Given the description of an element on the screen output the (x, y) to click on. 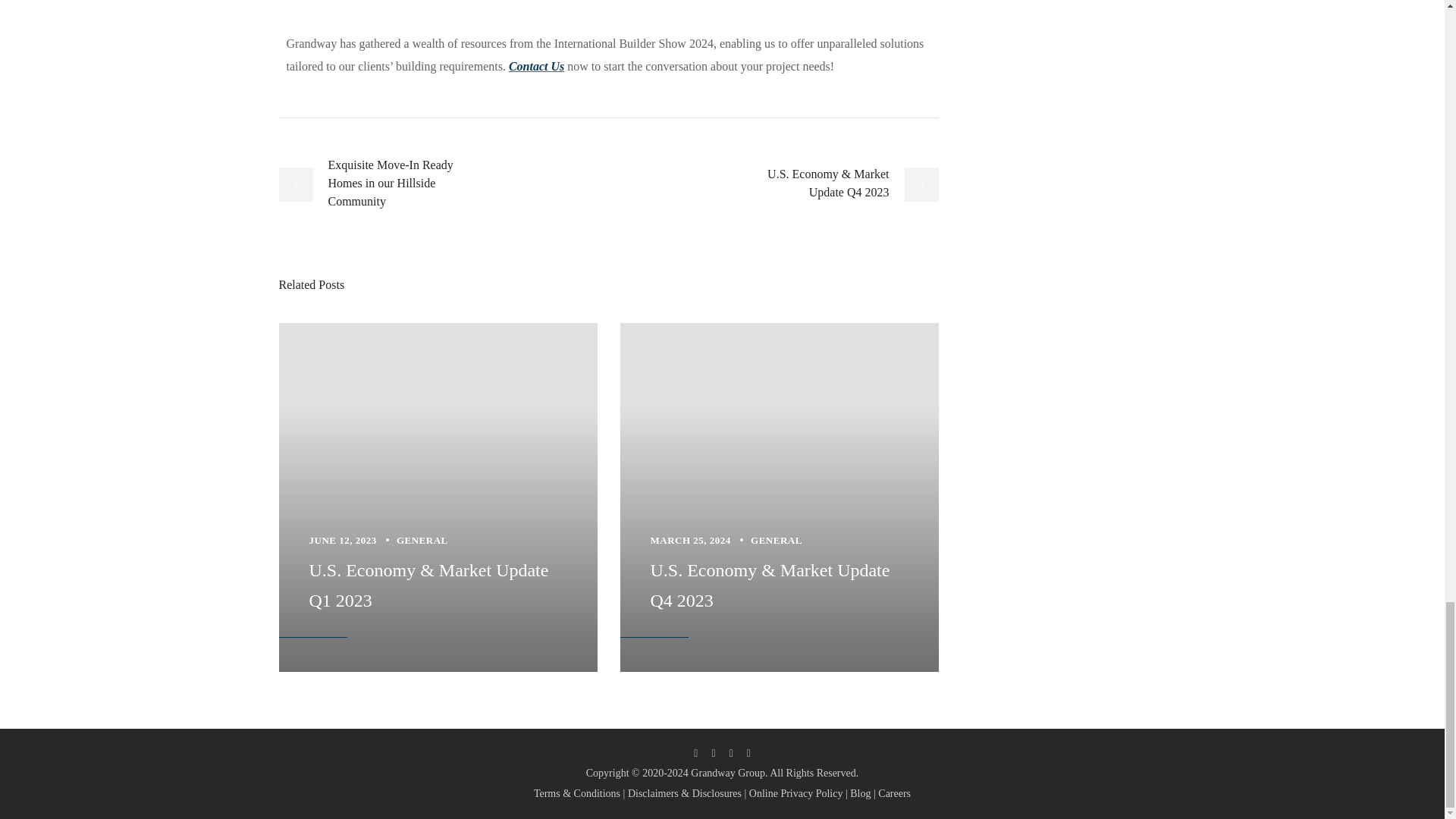
Contact Us (536, 65)
Exquisite Move-In Ready Homes in our Hillside Community (383, 184)
Exquisite Move-In Ready Homes in our Hillside Community (383, 184)
